Given the description of an element on the screen output the (x, y) to click on. 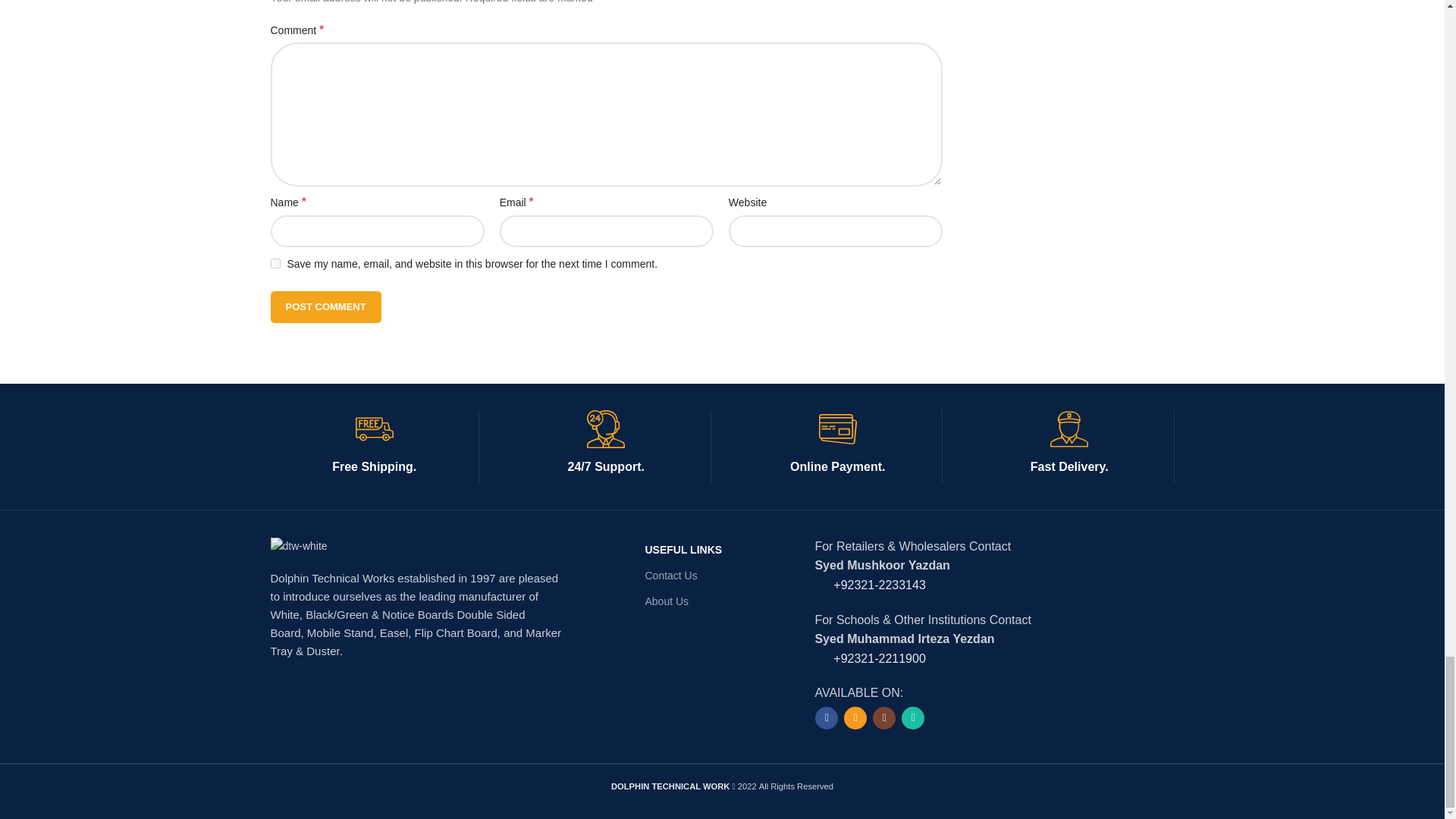
dtw-white (297, 545)
yes (274, 263)
Post Comment (324, 306)
